Given the description of an element on the screen output the (x, y) to click on. 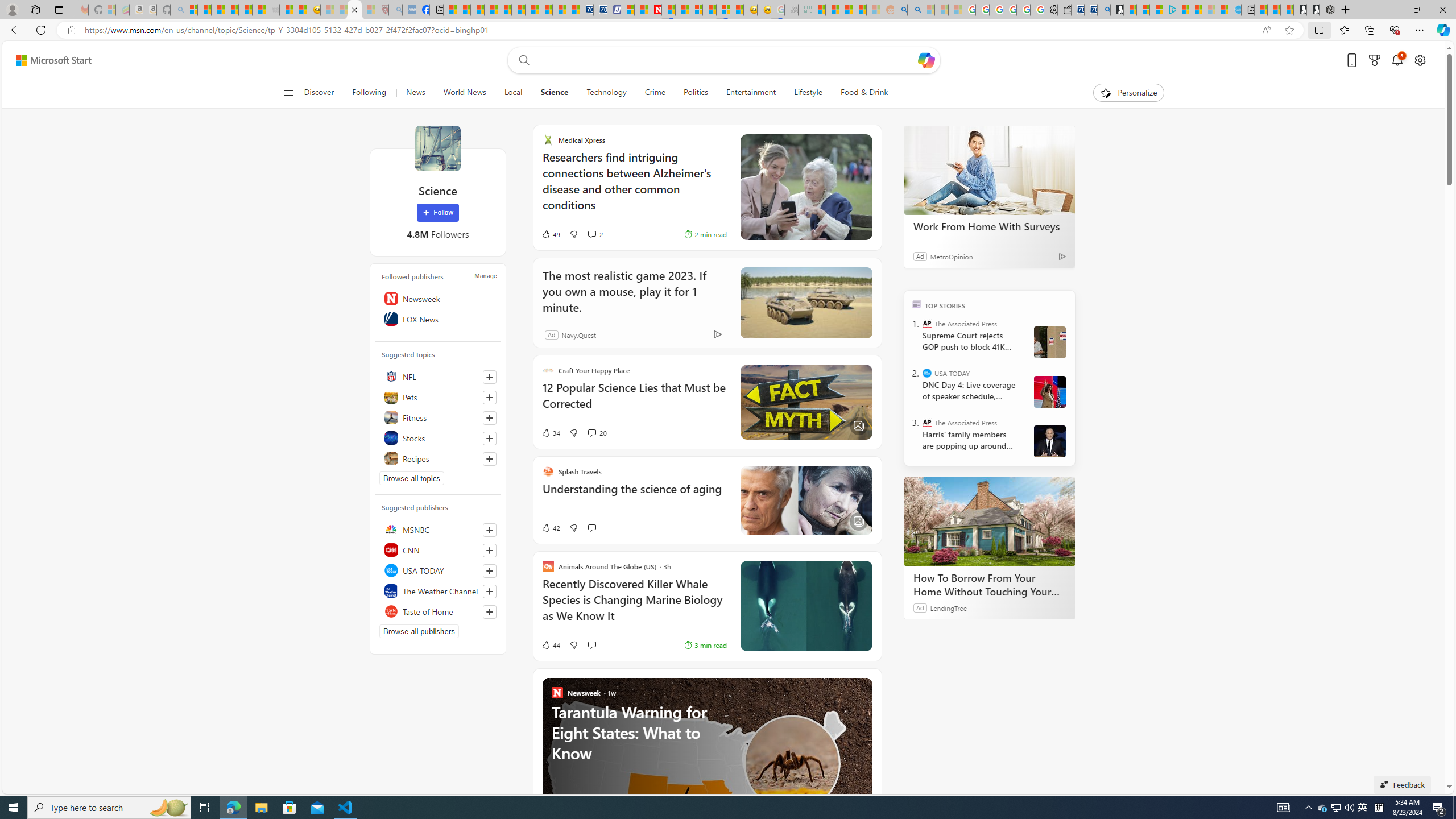
Utah sues federal government - Search (914, 9)
14 Common Myths Debunked By Scientific Facts (682, 9)
